Given the description of an element on the screen output the (x, y) to click on. 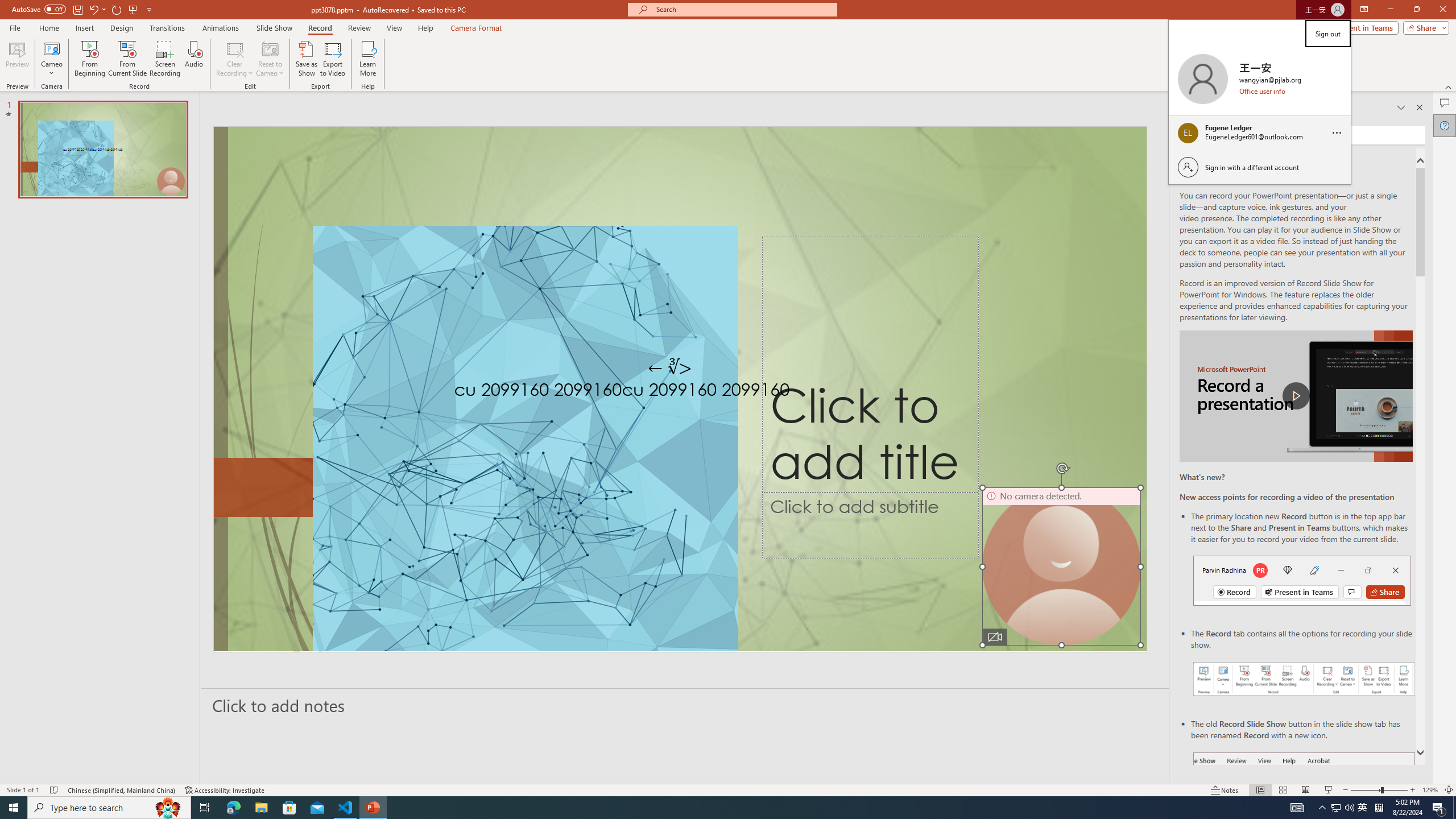
Subtitle TextBox (869, 525)
Camera Format (475, 28)
Learn More (368, 58)
Export to Video (332, 58)
Clear Recording (234, 58)
